Given the description of an element on the screen output the (x, y) to click on. 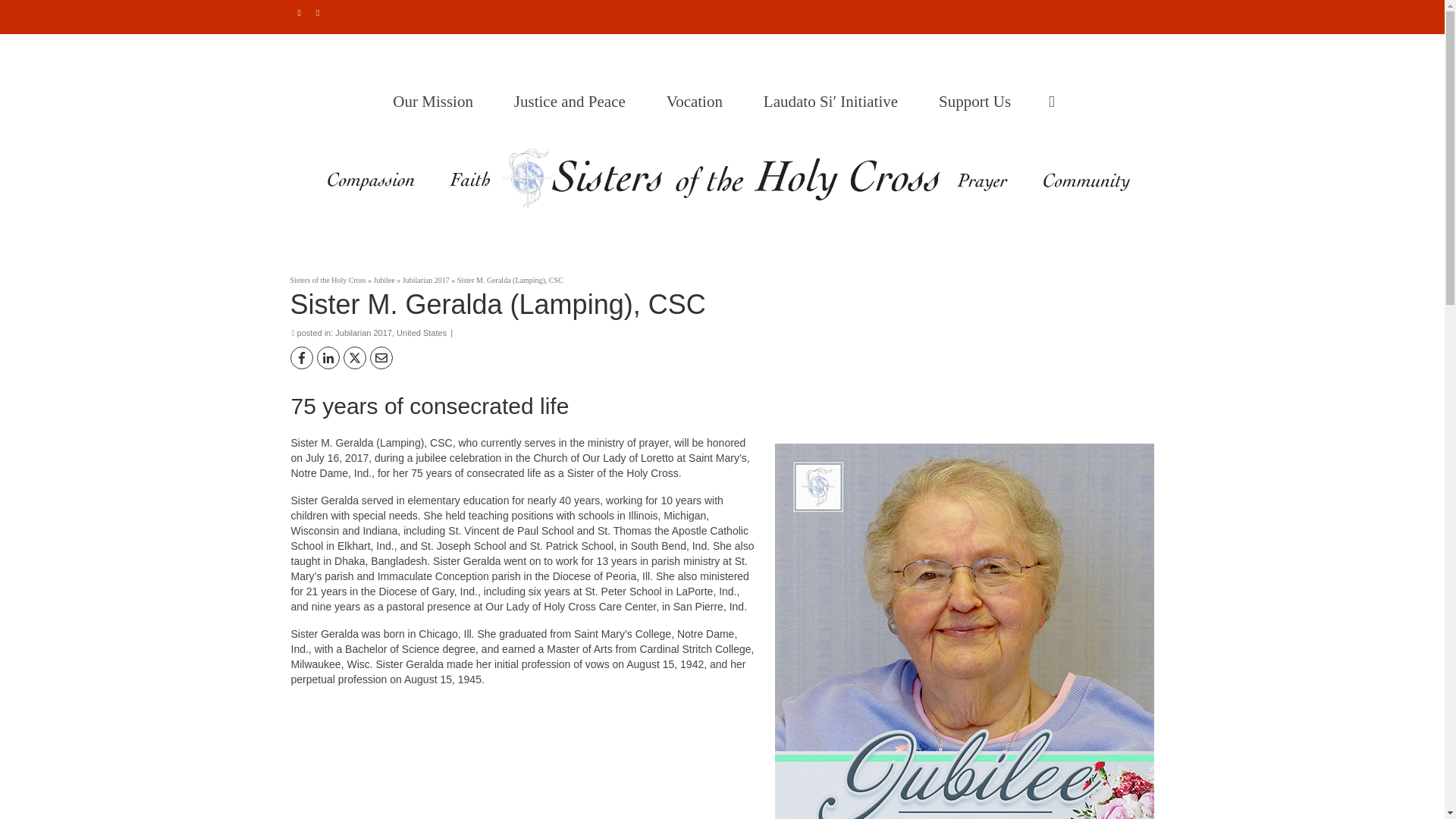
Vocation (697, 101)
Justice and Peace (573, 101)
Support Us (978, 101)
Our Mission (436, 101)
